Given the description of an element on the screen output the (x, y) to click on. 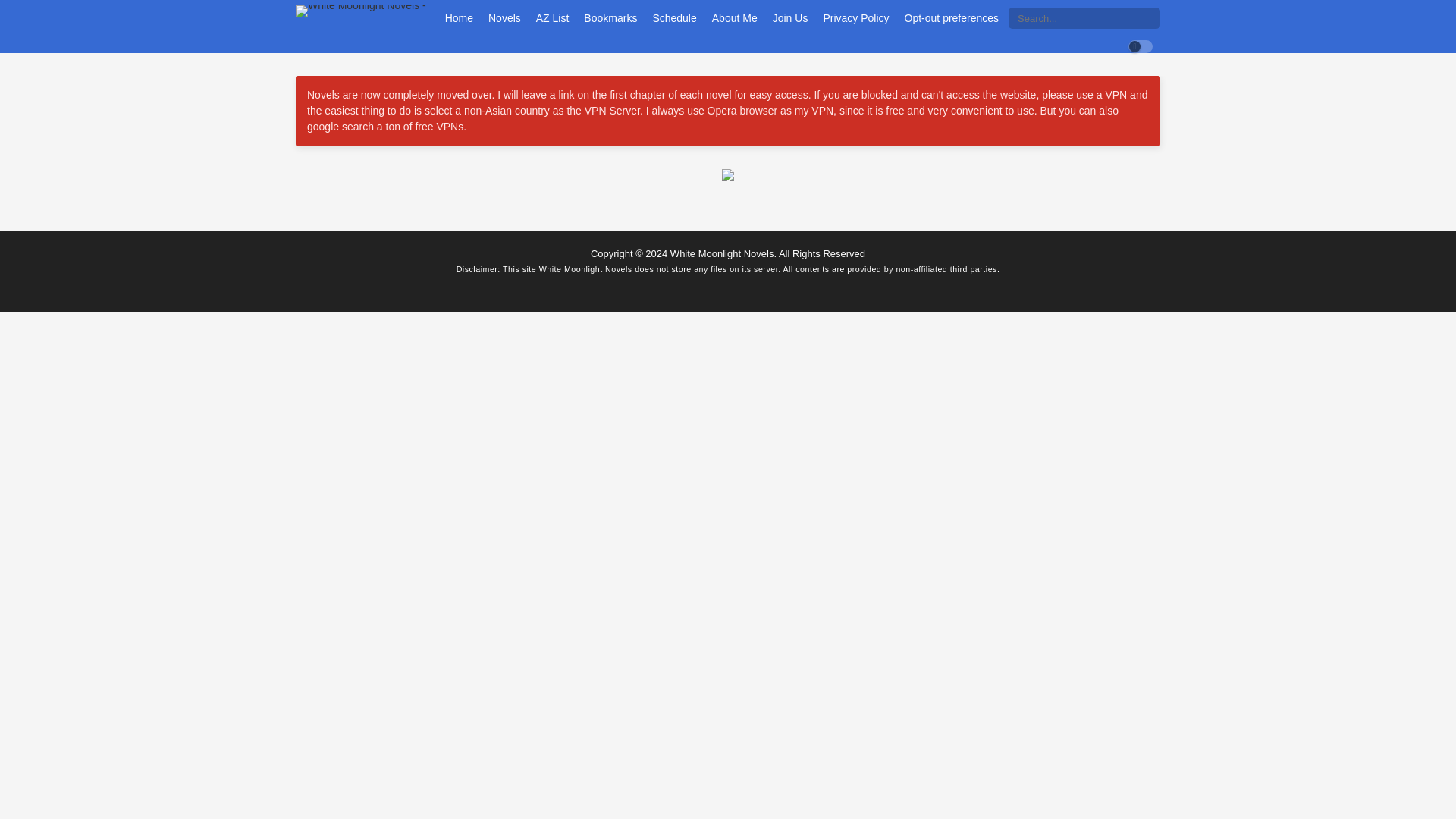
White Moonlight Novels -  (360, 10)
About Me (734, 18)
Opt-out preferences (952, 18)
Privacy Policy (855, 18)
Bookmarks (609, 18)
Novels (504, 18)
Home (459, 18)
Schedule (673, 18)
AZ List (552, 18)
Join Us (790, 18)
